Given the description of an element on the screen output the (x, y) to click on. 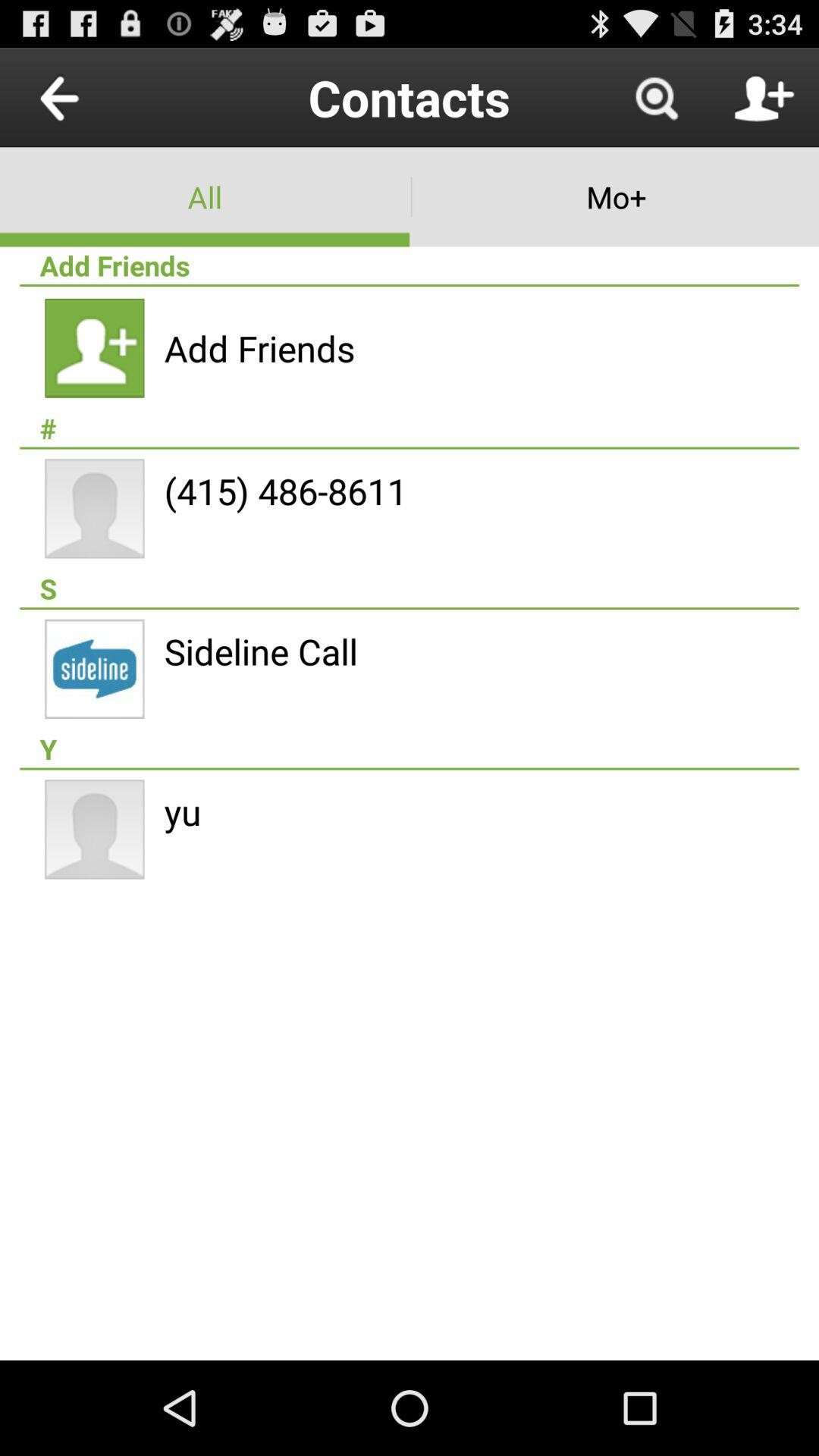
launch the (415) 486-8611 icon (285, 490)
